Given the description of an element on the screen output the (x, y) to click on. 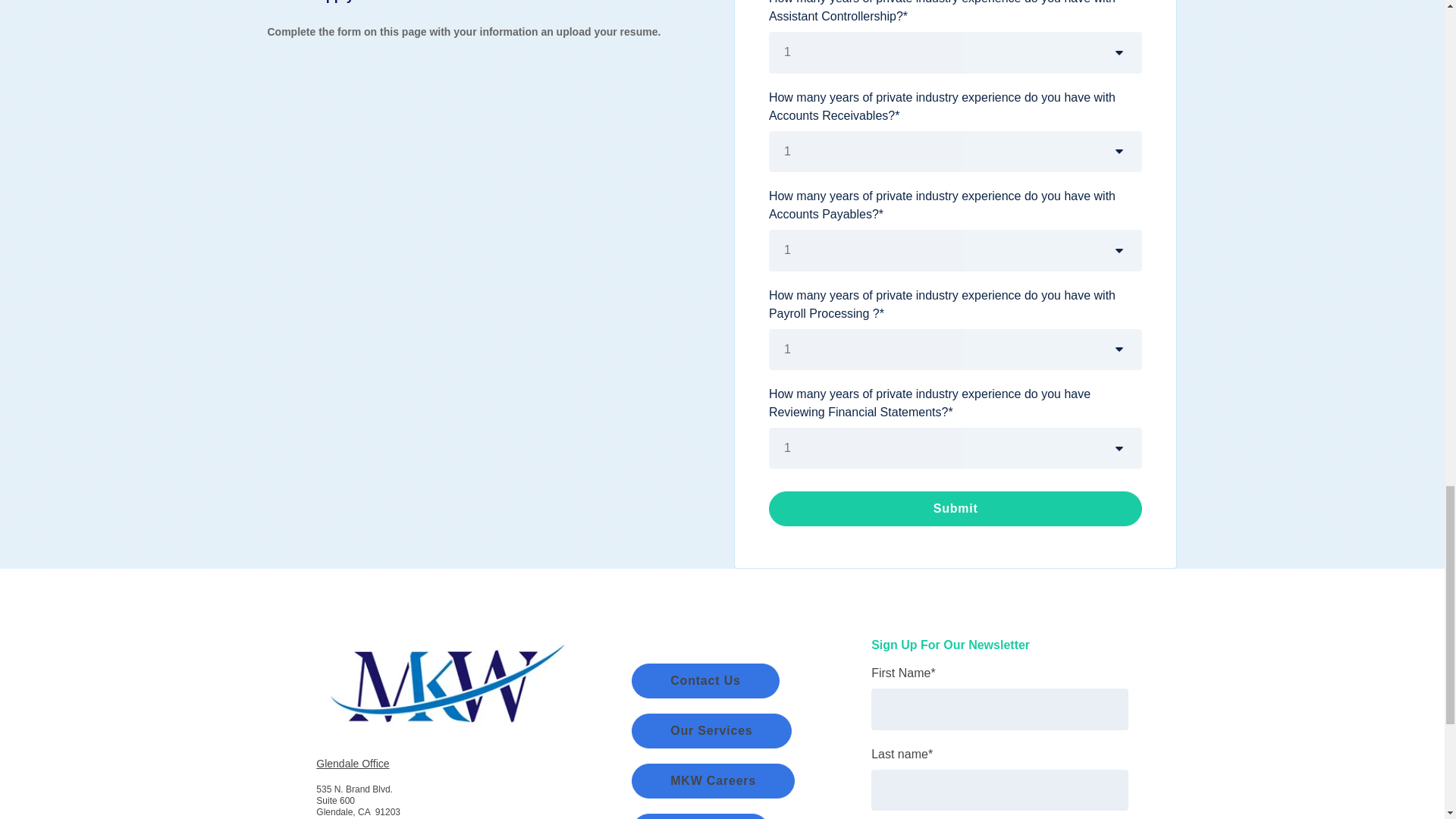
Submit (955, 508)
MKW 3.2 MKW only (444, 679)
Submit (955, 508)
Our Team (700, 816)
Contact Us (704, 680)
MKW Careers (712, 780)
Our Services (710, 730)
